Given the description of an element on the screen output the (x, y) to click on. 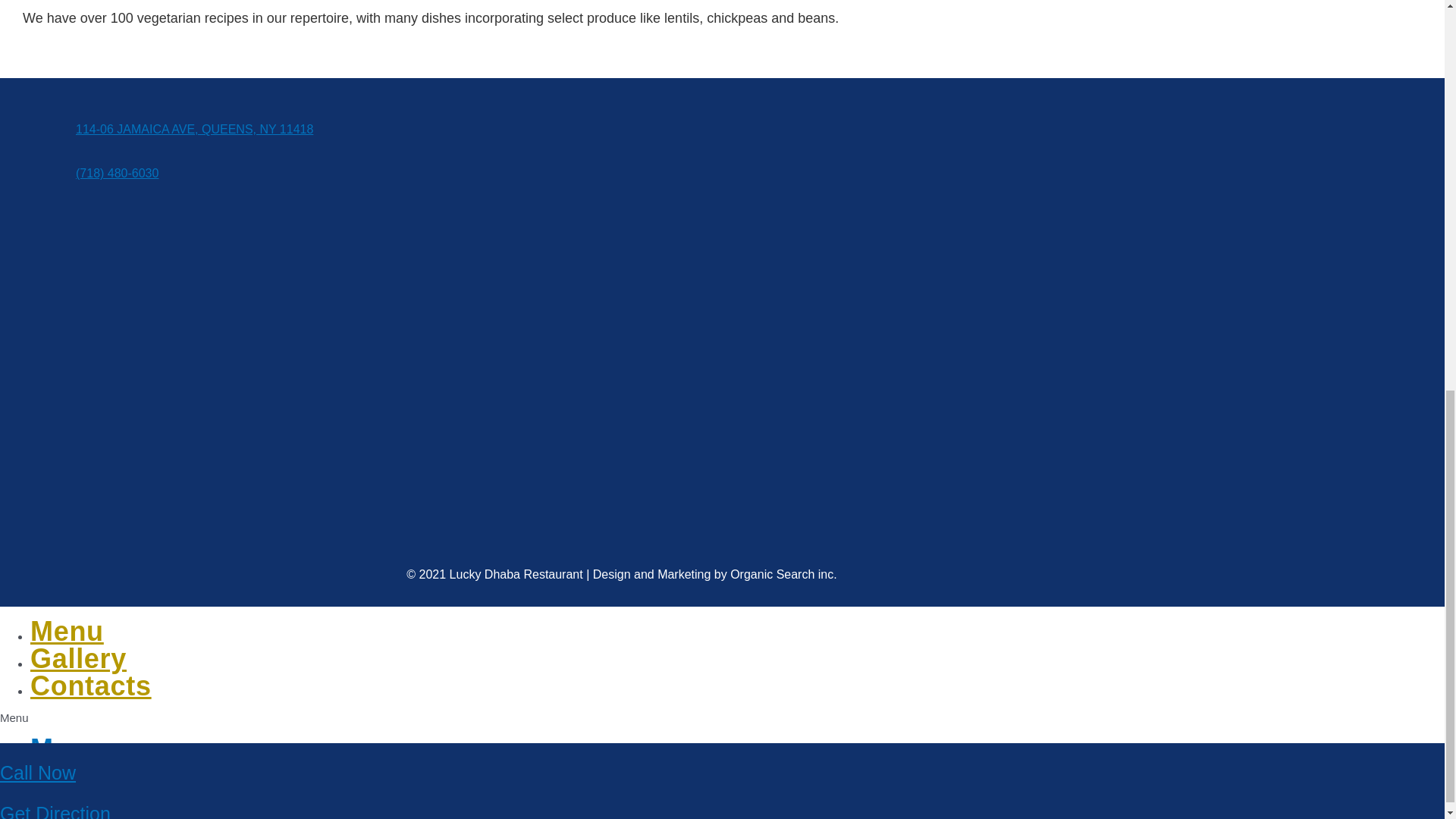
Gallery (78, 658)
Call Now (37, 16)
Menu (66, 748)
114-06 JAMAICA AVE, QUEENS, NY 11418 (194, 128)
Gallery (78, 775)
Get Direction (55, 56)
Menu (66, 631)
Contacts (90, 685)
